Given the description of an element on the screen output the (x, y) to click on. 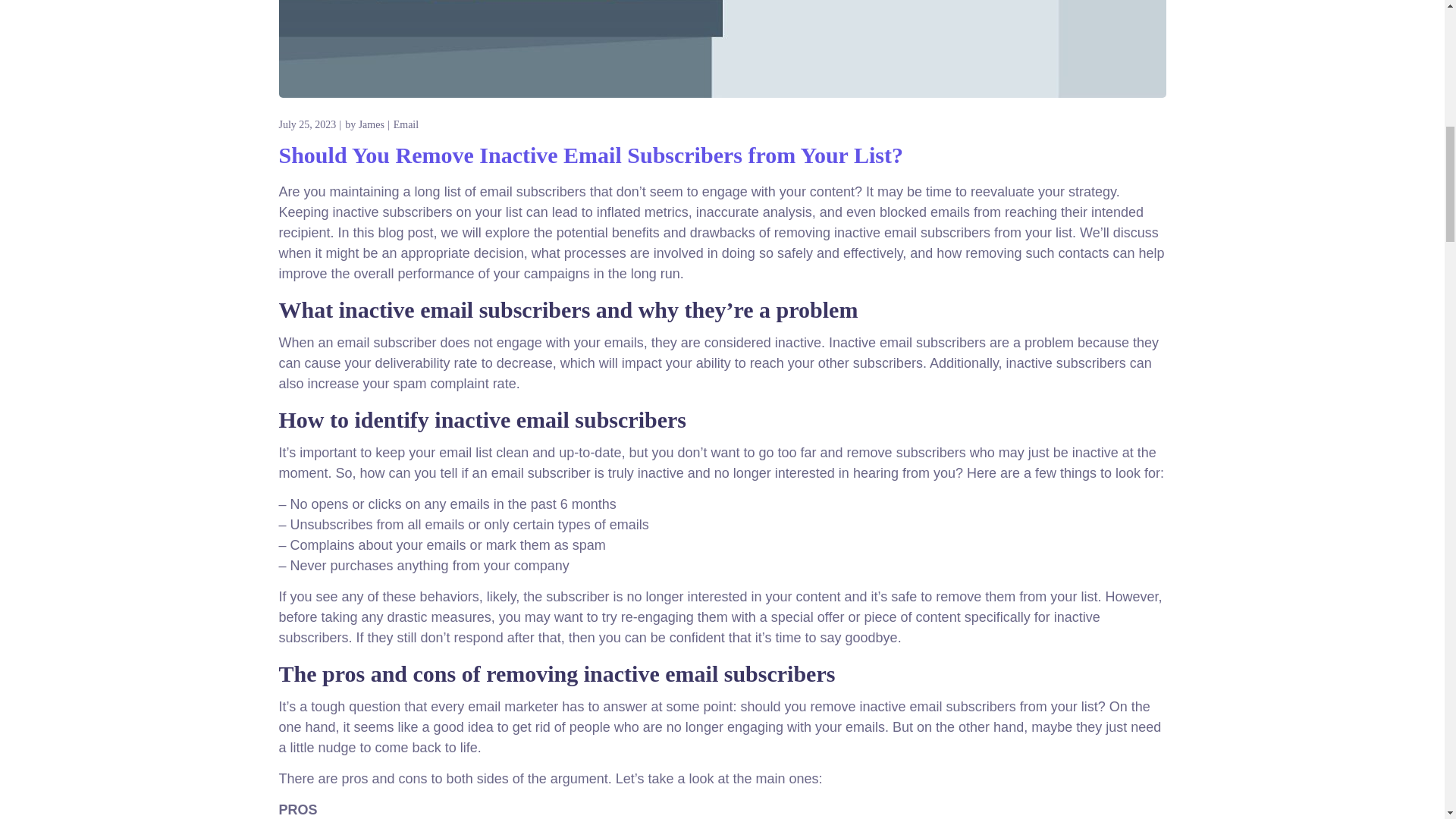
Should You Remove Inactive Email Subscribers from Your List? (590, 154)
James (371, 124)
Email (406, 124)
